Given the description of an element on the screen output the (x, y) to click on. 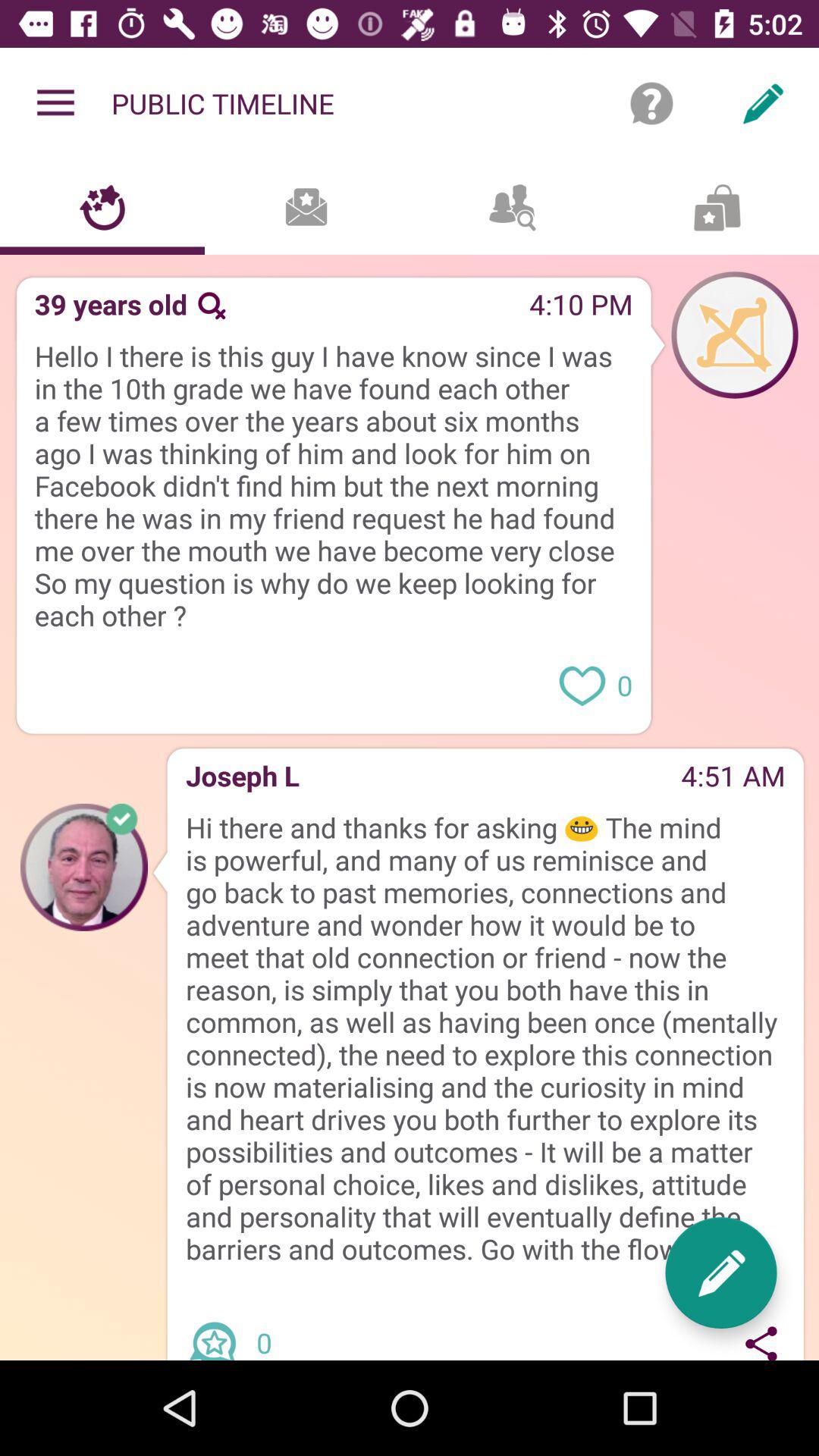
turn on the item to the left of 4:51 am (490, 780)
